Given the description of an element on the screen output the (x, y) to click on. 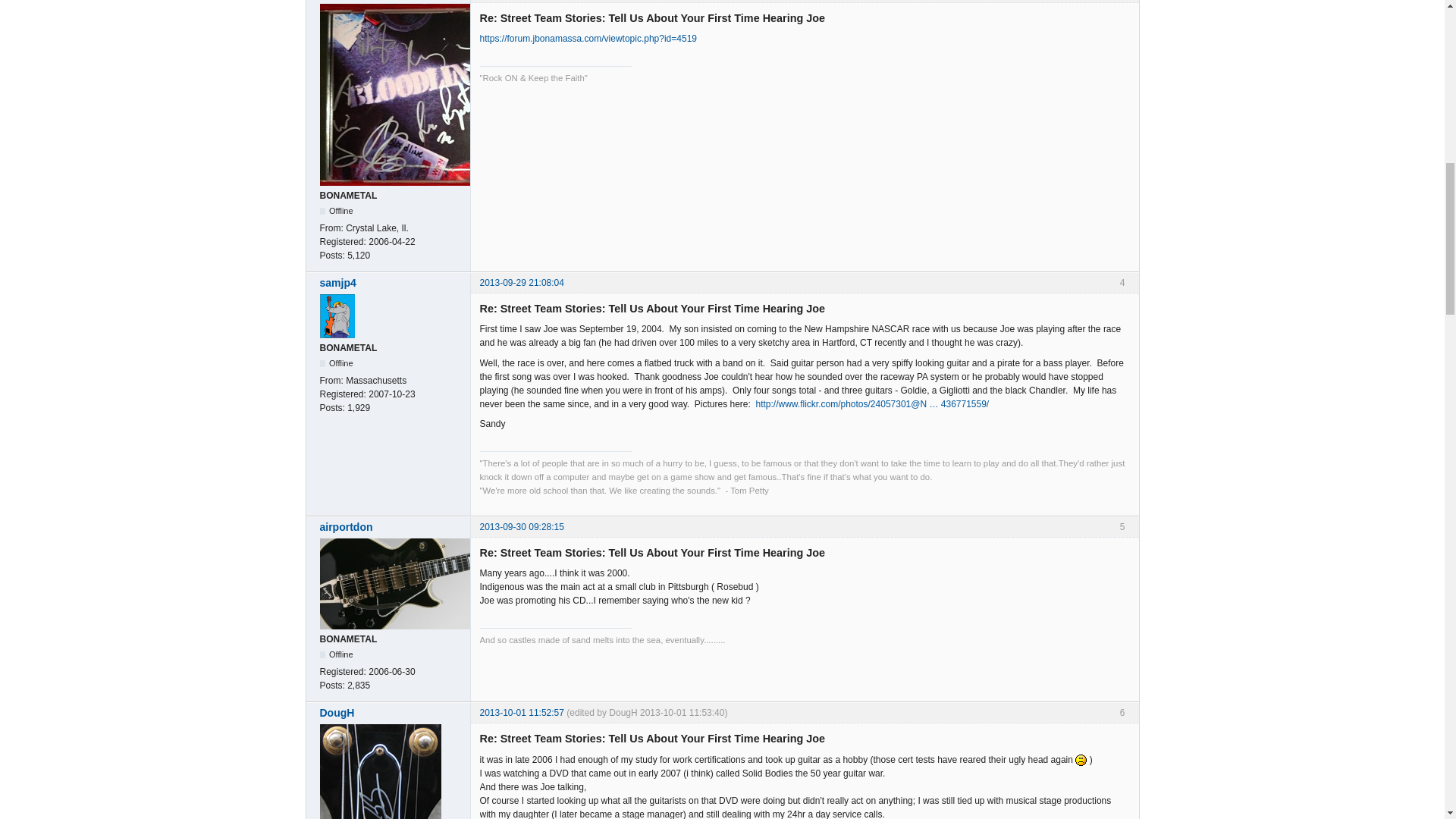
2013-09-29 21:08:04 (521, 282)
samjp4 (390, 282)
2013-09-30 09:28:15 (521, 526)
Permanent link to this post (521, 282)
DougH (390, 712)
Go to samjp4's profile (390, 282)
2013-10-01 11:52:57 (521, 712)
airportdon (390, 526)
